Given the description of an element on the screen output the (x, y) to click on. 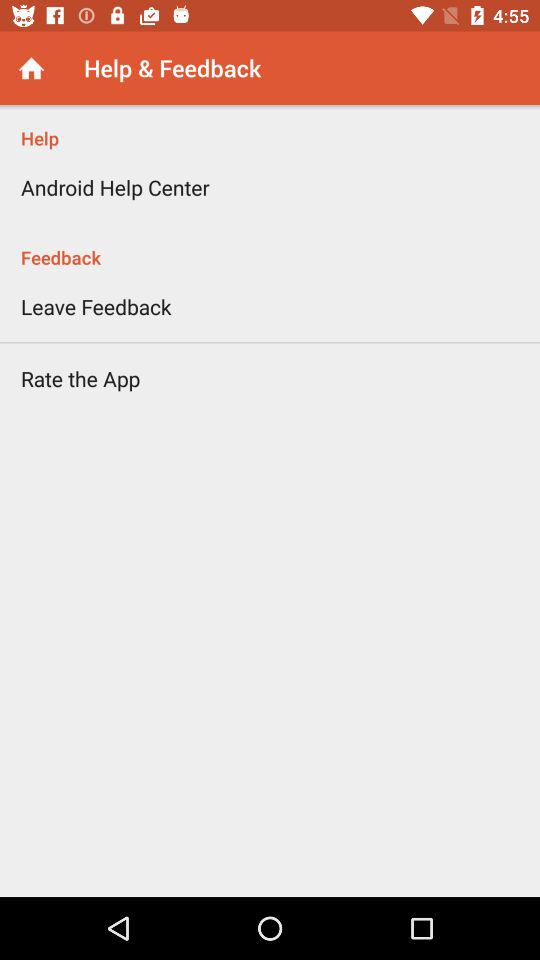
flip to leave feedback (96, 306)
